Given the description of an element on the screen output the (x, y) to click on. 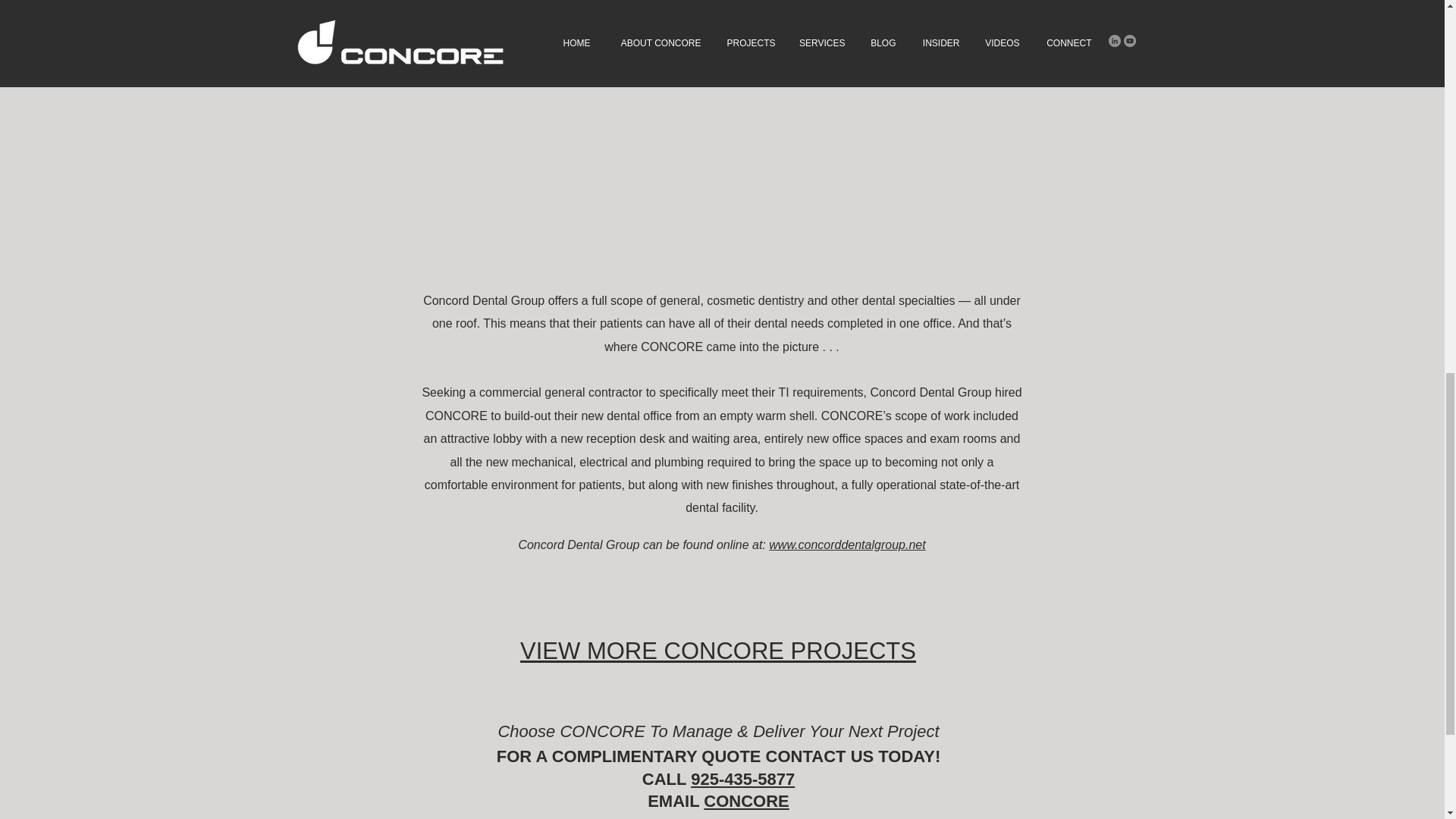
www.concorddentalgroup.net (846, 544)
VIEW MORE CONCORE PROJECTS (717, 651)
CONCORE (746, 800)
925-435-5877 (742, 778)
